Given the description of an element on the screen output the (x, y) to click on. 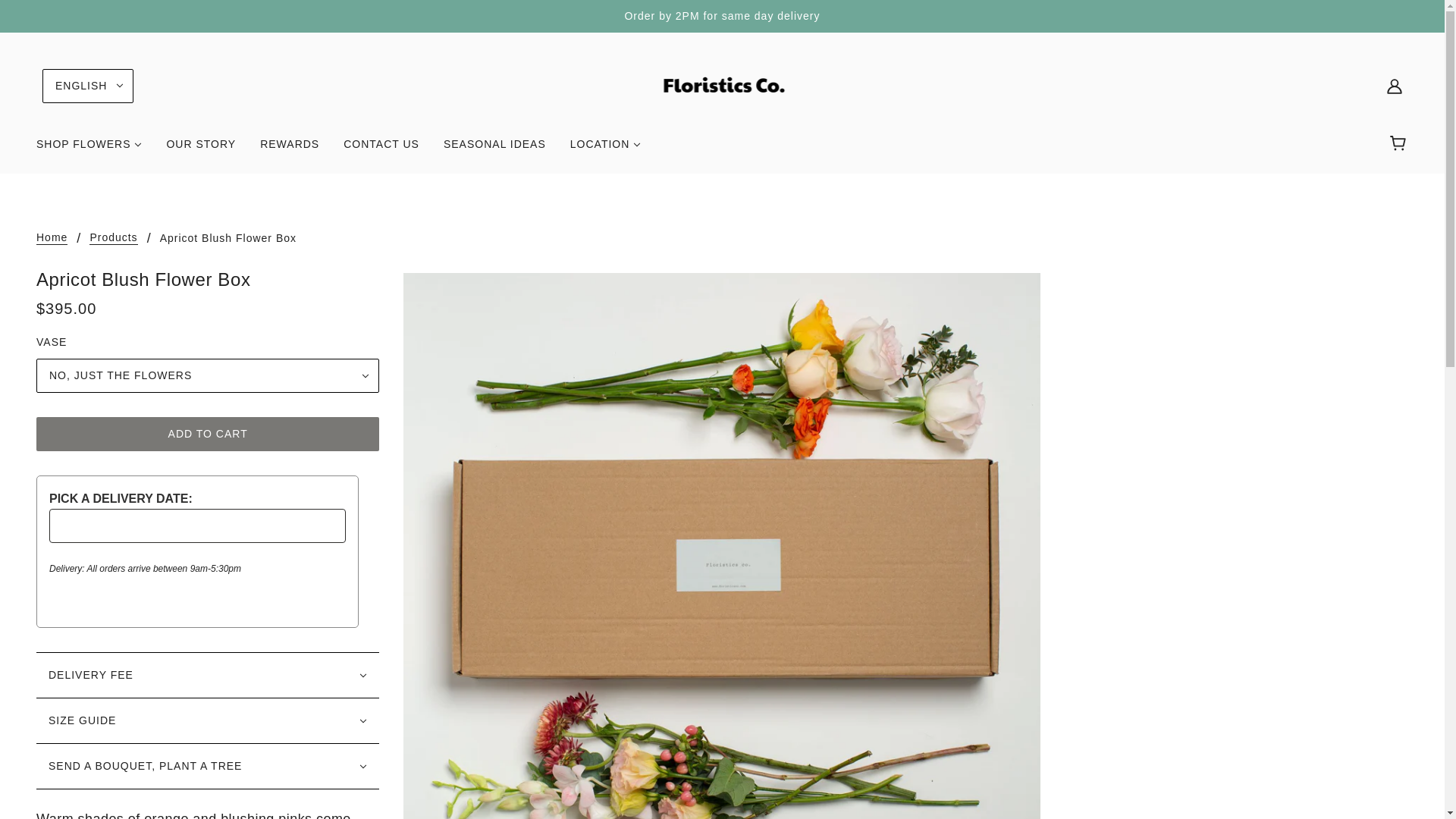
OUR STORY (200, 149)
Floristics Co. (721, 84)
LOCATION (604, 149)
REWARDS (289, 149)
SEASONAL IDEAS (493, 149)
CONTACT US (380, 149)
SHOP FLOWERS (89, 149)
